Given the description of an element on the screen output the (x, y) to click on. 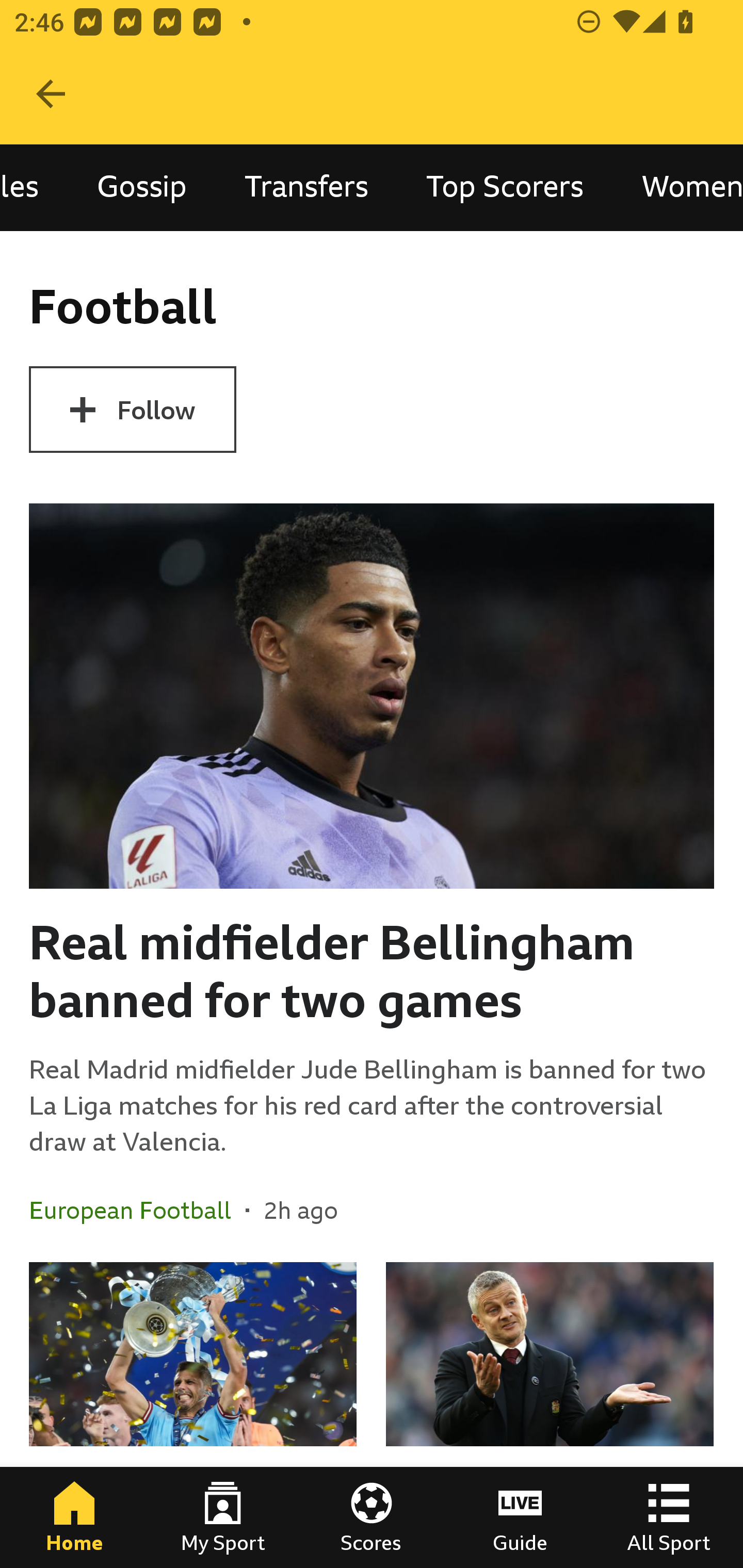
Navigate up (50, 93)
Gossip (141, 187)
Transfers (306, 187)
Top Scorers (504, 187)
Women (677, 187)
Follow Football Follow (132, 409)
European Football In the section European Football (136, 1209)
No 'magic wand' for Man Utd - ex-boss Solskjaer (549, 1415)
My Sport (222, 1517)
Scores (371, 1517)
Guide (519, 1517)
All Sport (668, 1517)
